Given the description of an element on the screen output the (x, y) to click on. 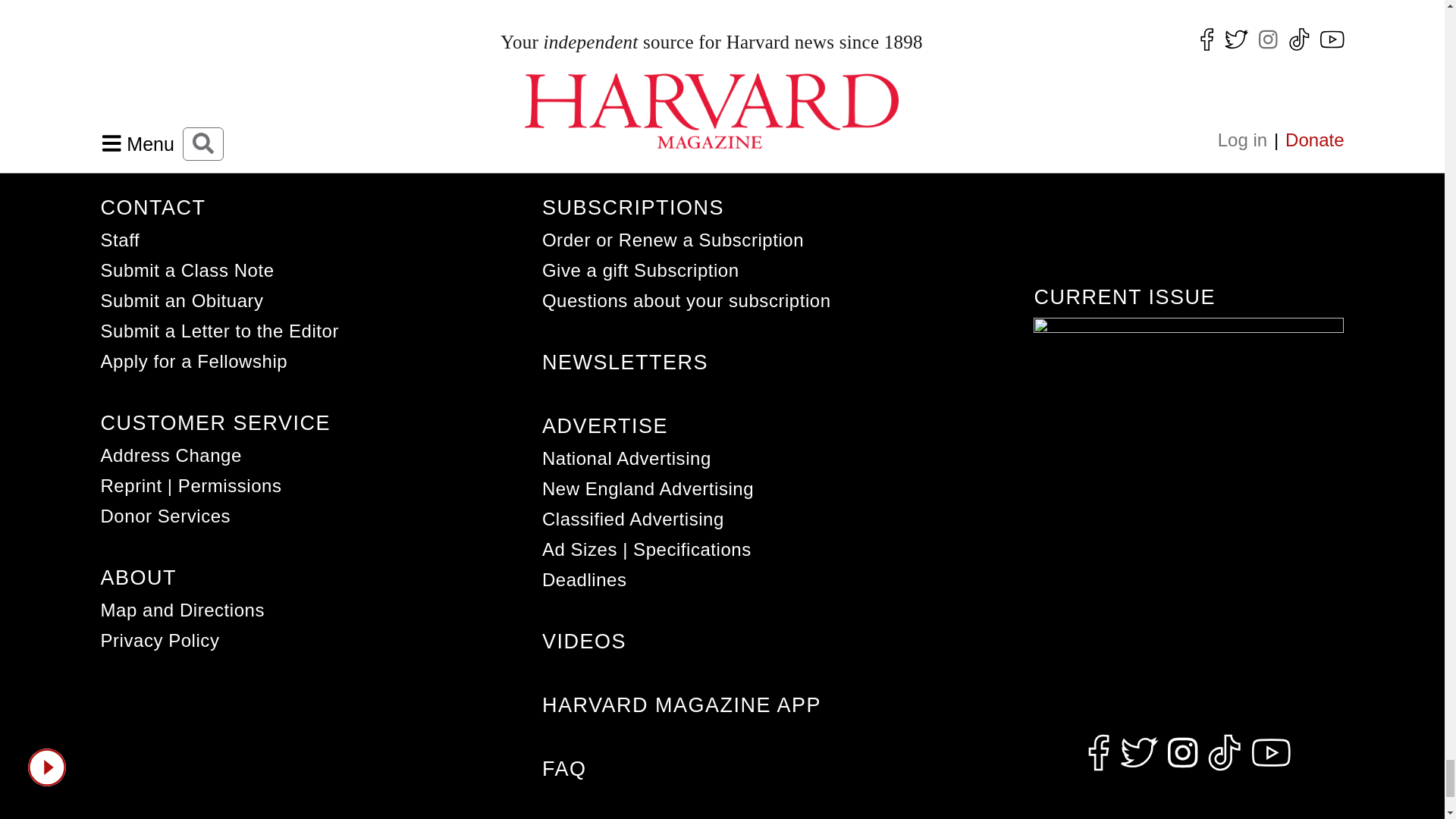
facebook (1098, 753)
